Given the description of an element on the screen output the (x, y) to click on. 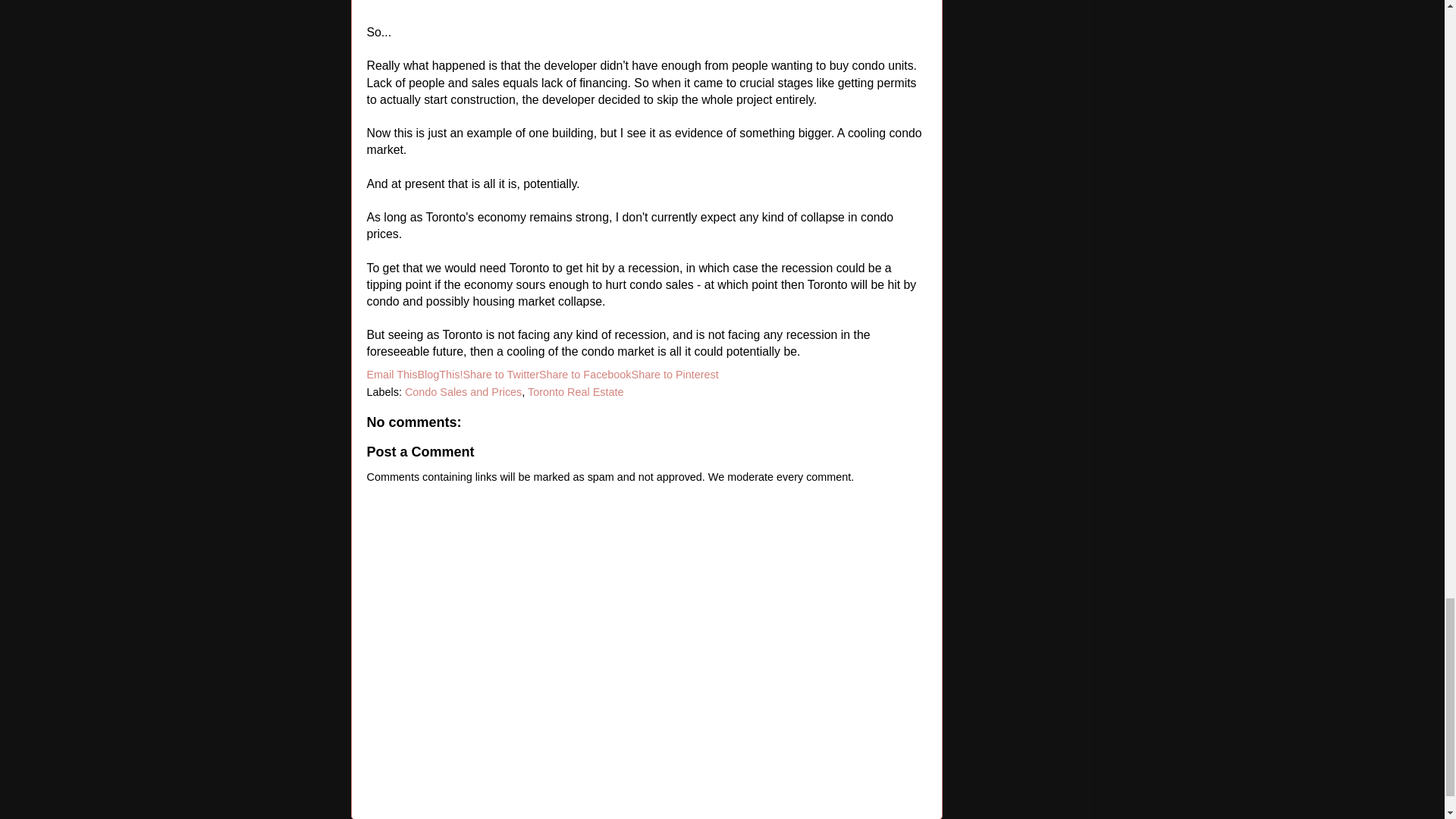
Share to Twitter (500, 374)
Share to Facebook (584, 374)
BlogThis! (439, 374)
Share to Pinterest (675, 374)
Email This (391, 374)
